Given the description of an element on the screen output the (x, y) to click on. 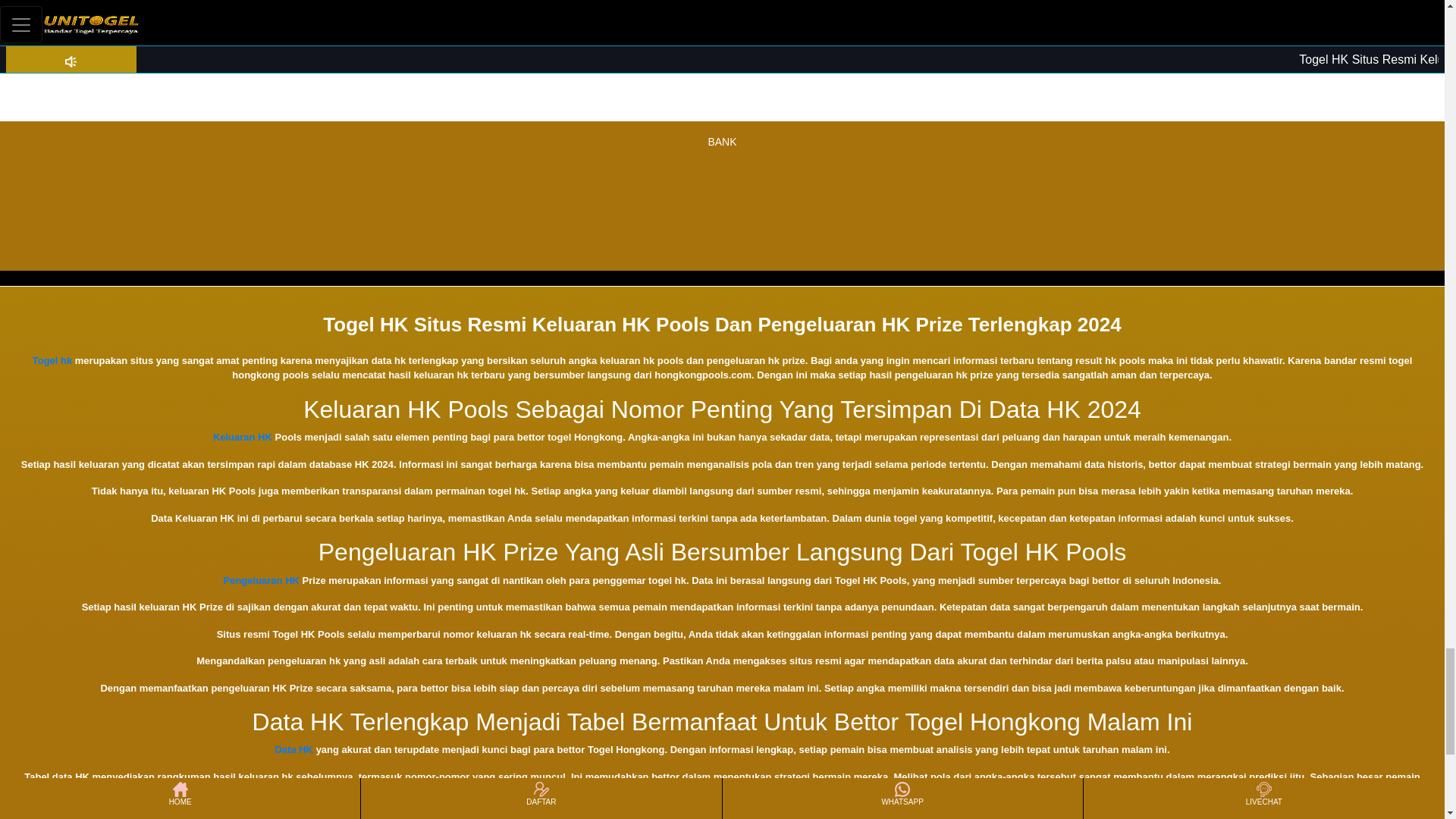
Data HK (294, 749)
Togel hk (51, 360)
Pengeluaran HK (261, 580)
Keluaran HK (242, 437)
